Given the description of an element on the screen output the (x, y) to click on. 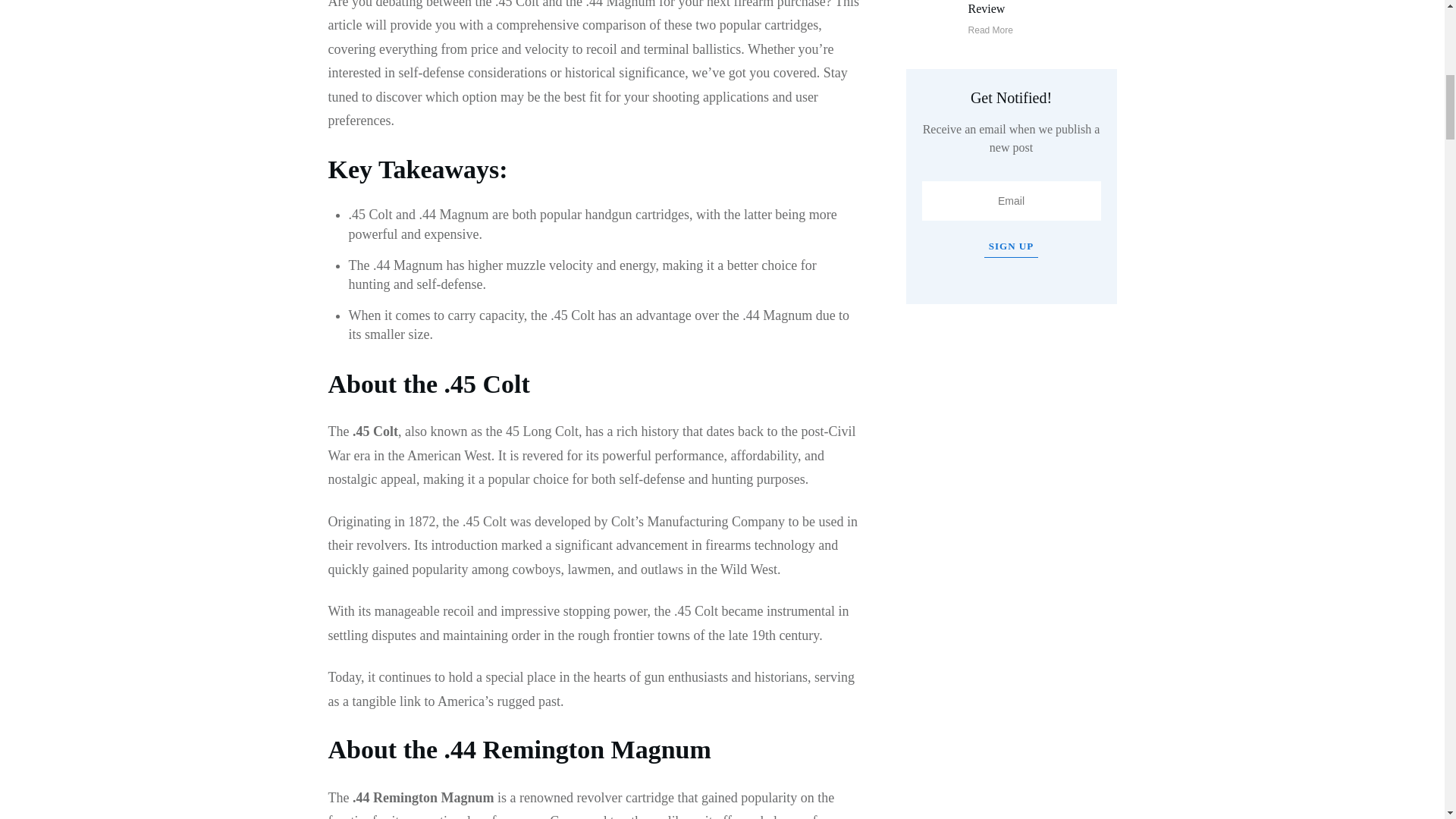
Ithaca Featherlight 12 Gauge Review (1038, 7)
Read More (990, 30)
SIGN UP (1011, 246)
Ithaca Featherlight 12 Gauge Review (1038, 7)
